Given the description of an element on the screen output the (x, y) to click on. 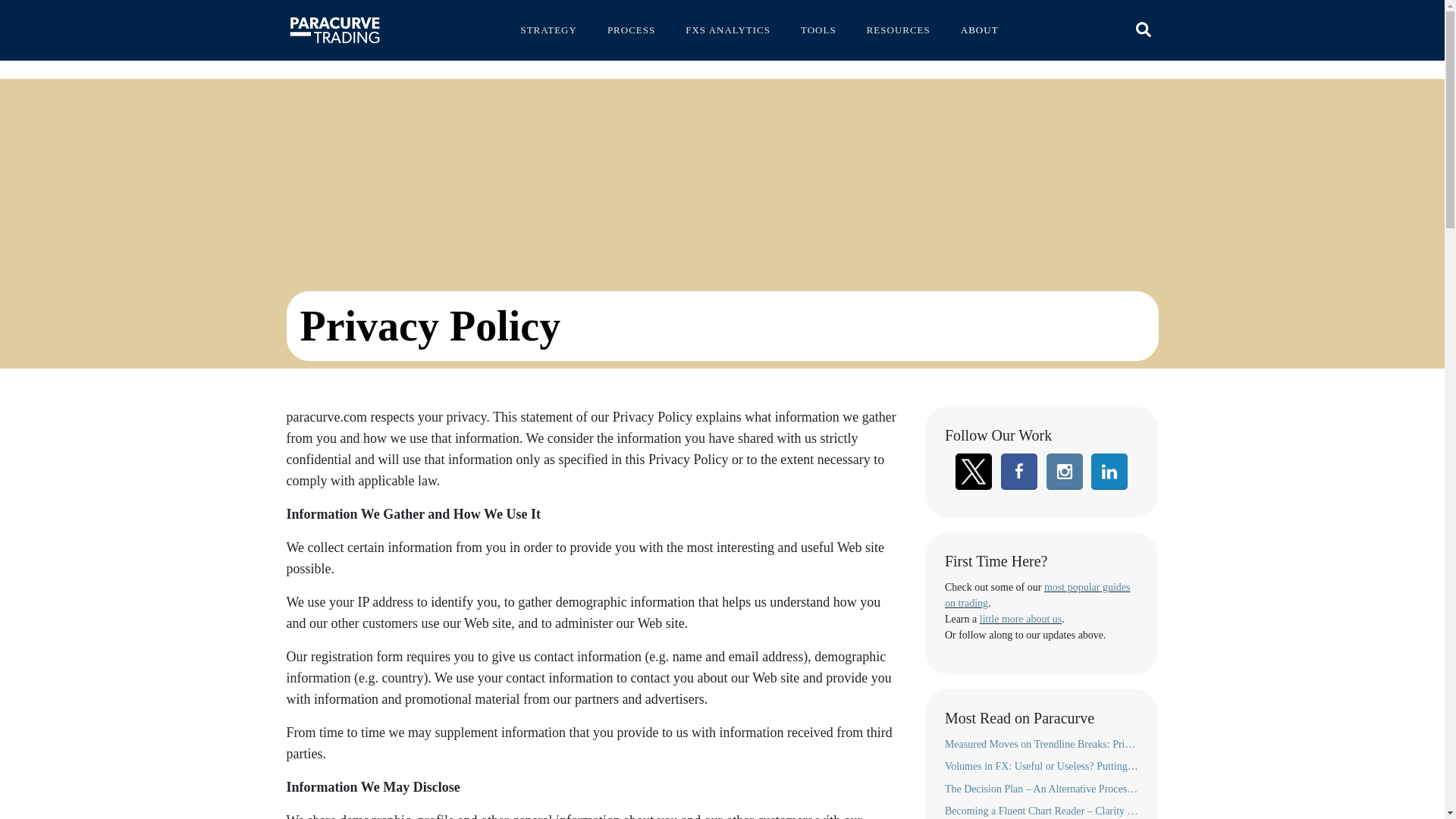
FXS ANALYTICS (727, 23)
PROCESS (631, 23)
ABOUT (979, 24)
RESOURCES (898, 23)
TOOLS (818, 23)
STRATEGY (547, 23)
